Given the description of an element on the screen output the (x, y) to click on. 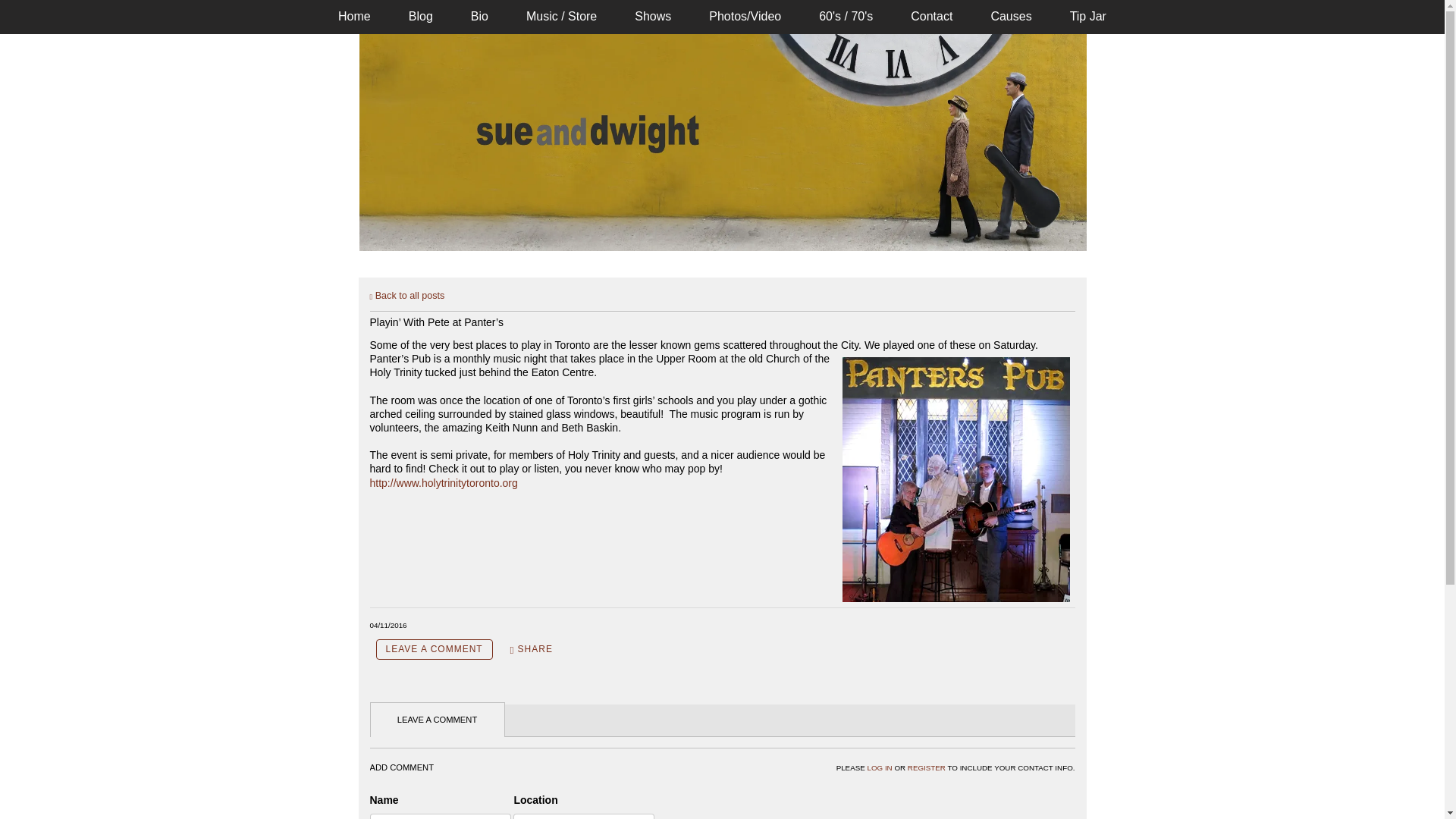
Blog (420, 16)
Contact (931, 16)
Home (354, 16)
Leave a comment (434, 649)
Back to all posts (407, 295)
Tip Jar (1088, 16)
Causes (1010, 16)
Shows (652, 16)
April 11, 2016 17:30 (388, 624)
Bio (478, 16)
LEAVE A COMMENT (434, 649)
